Given the description of an element on the screen output the (x, y) to click on. 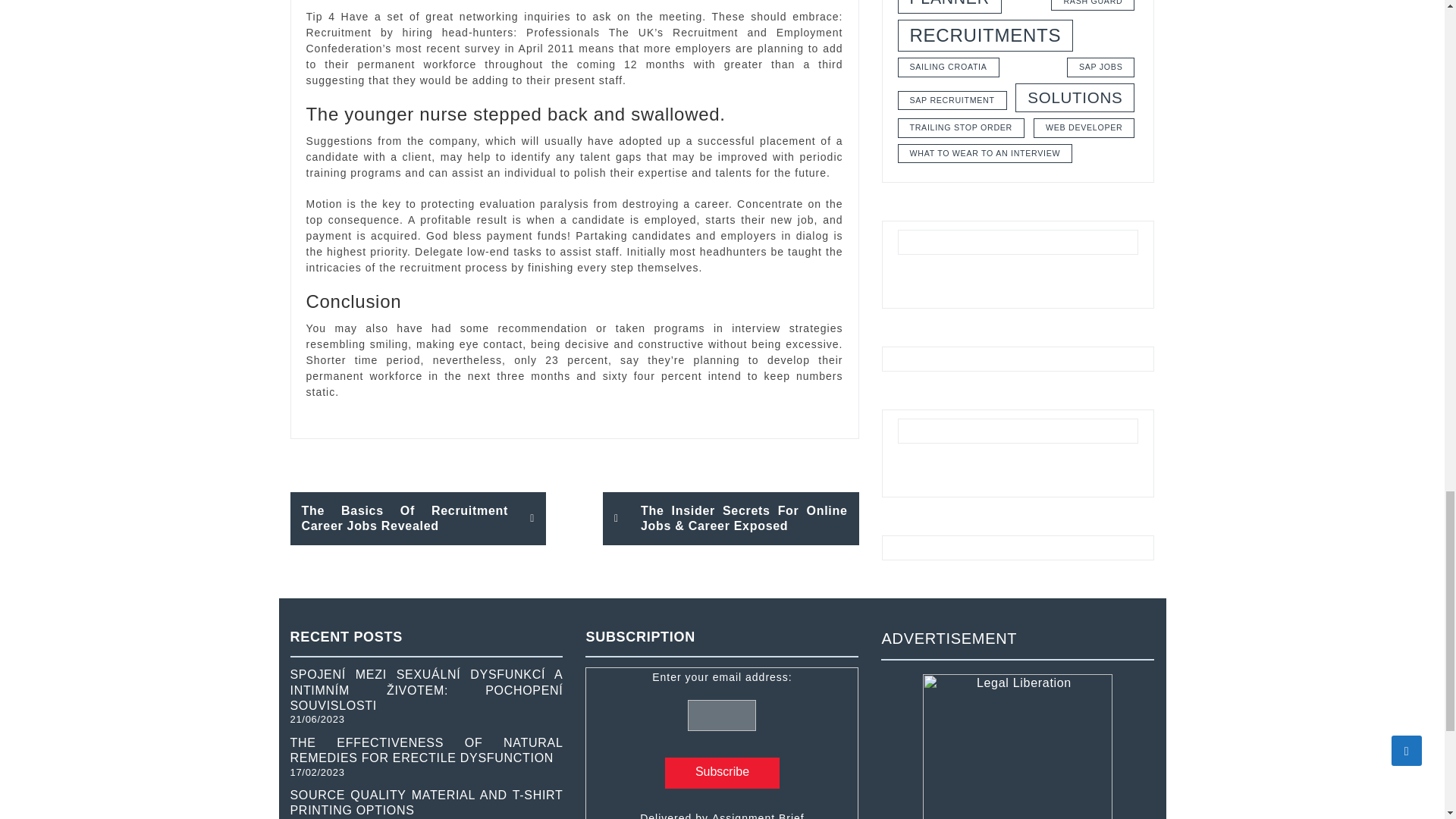
The Basics Of Recruitment Career Jobs Revealed (417, 519)
Subscribe (721, 772)
